Given the description of an element on the screen output the (x, y) to click on. 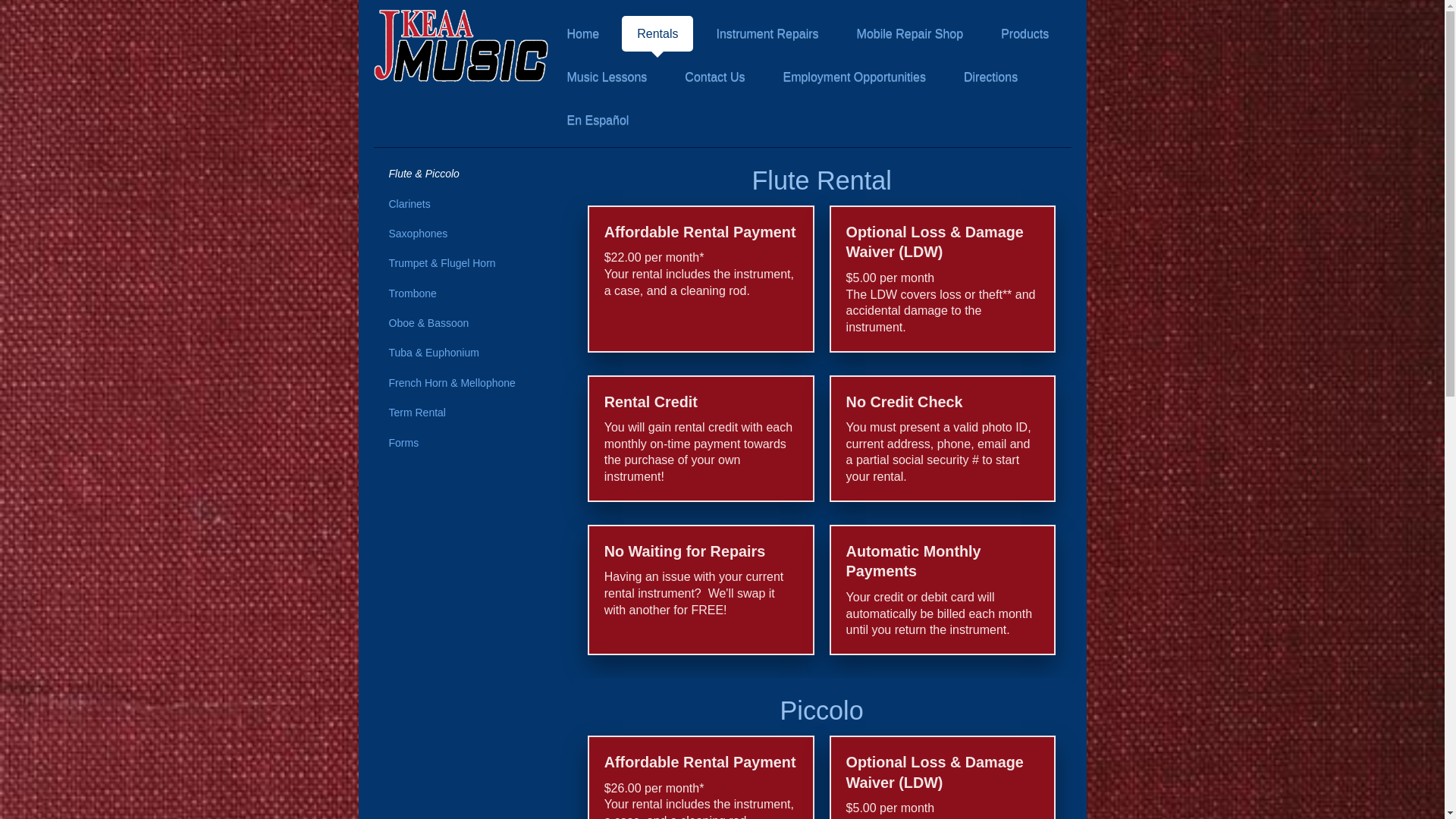
Products (1024, 33)
Rentals (657, 33)
Contact Us (714, 76)
Employment Opportunities (853, 76)
Saxophones (464, 232)
Mobile Repair Shop (909, 33)
Directions (990, 76)
Home (582, 33)
Clarinets (464, 203)
Trombone (464, 292)
Music Lessons (606, 76)
Instrument Repairs (766, 33)
